Given the description of an element on the screen output the (x, y) to click on. 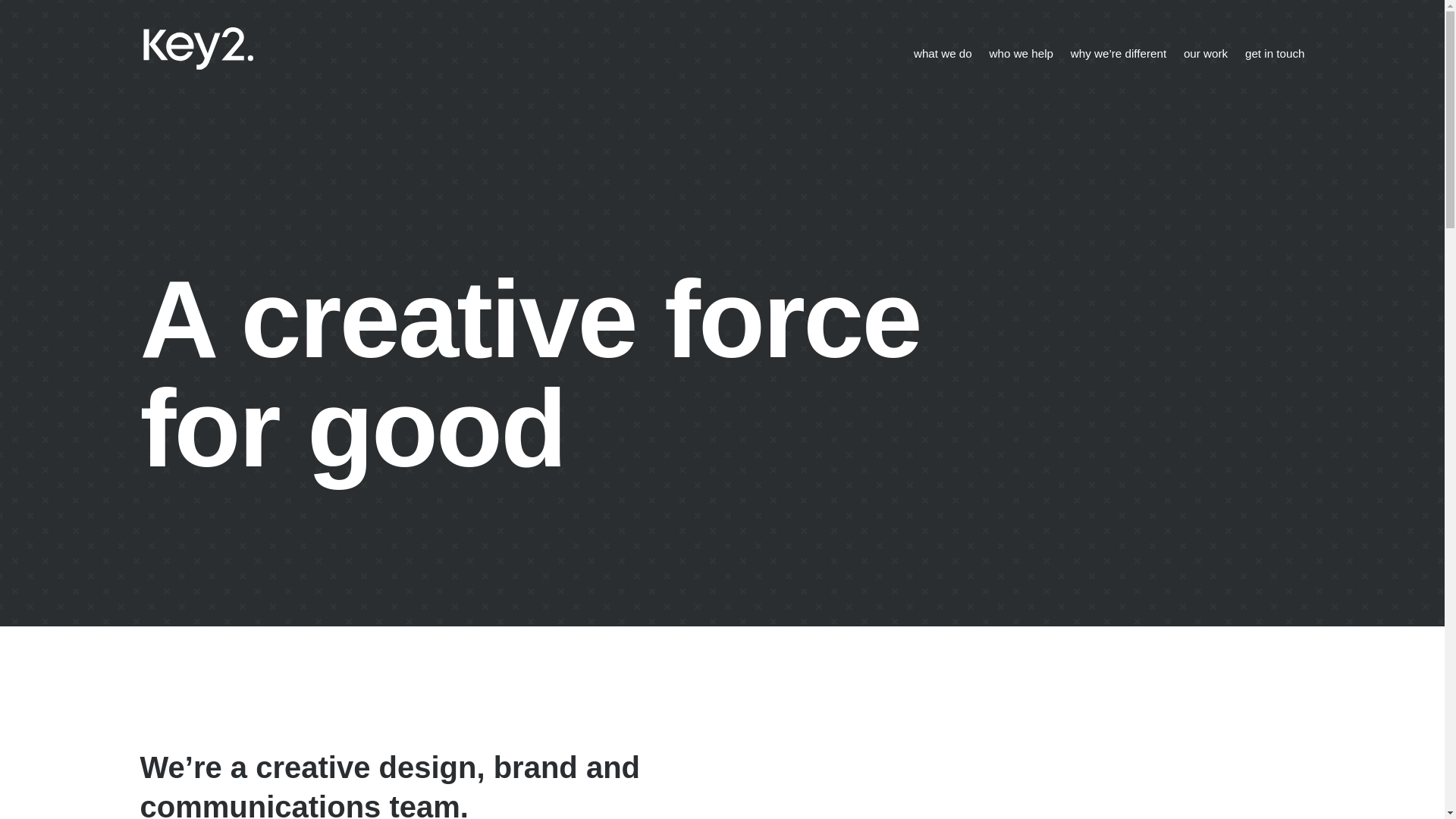
who we help Element type: text (1012, 56)
get in touch Element type: text (1265, 56)
our work Element type: text (1196, 56)
Key2, a creative force for good Element type: text (209, 57)
what we do Element type: text (934, 56)
